Given the description of an element on the screen output the (x, y) to click on. 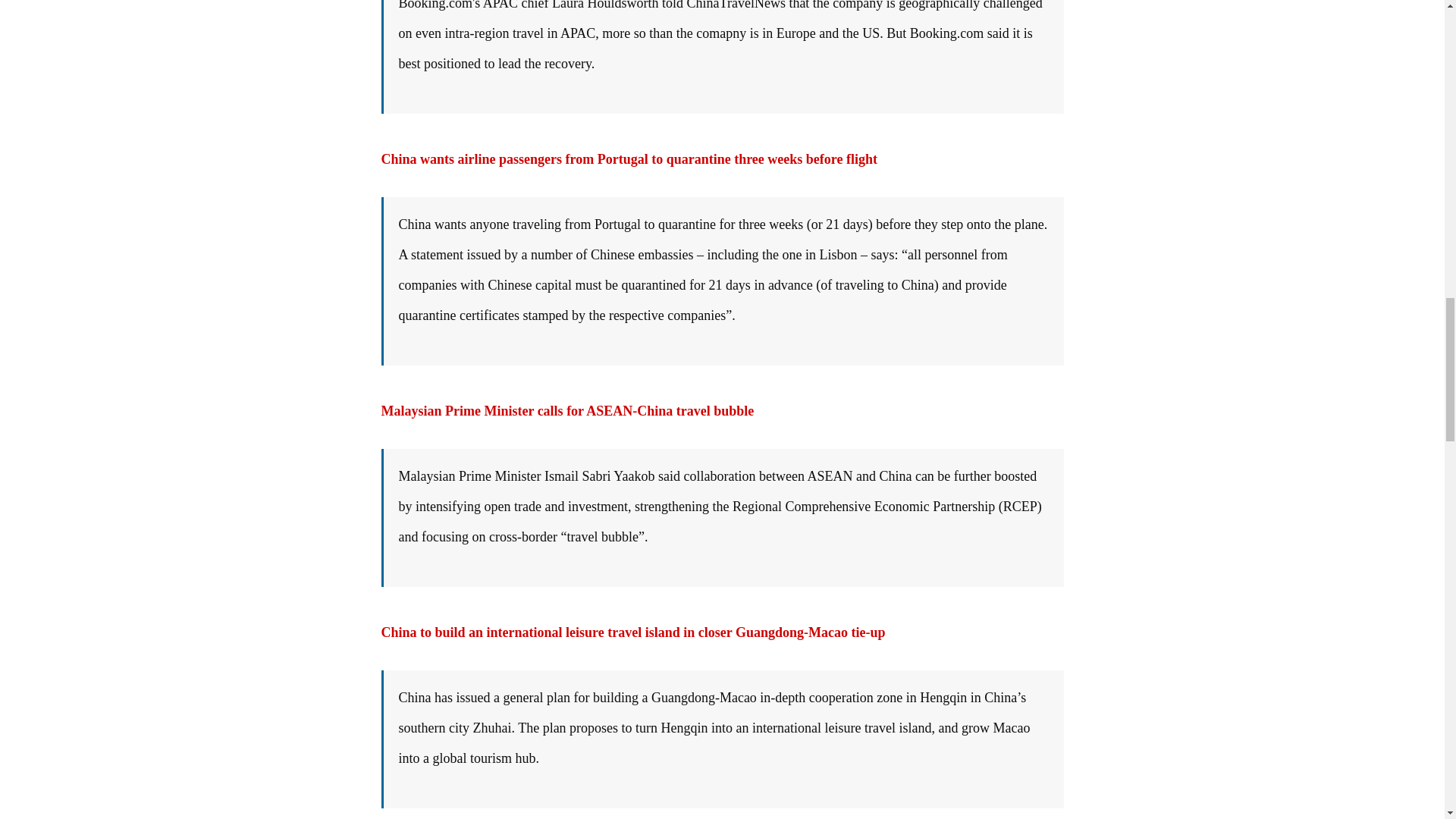
Malaysian Prime Minister calls for ASEAN-China travel bubble (567, 410)
